Given the description of an element on the screen output the (x, y) to click on. 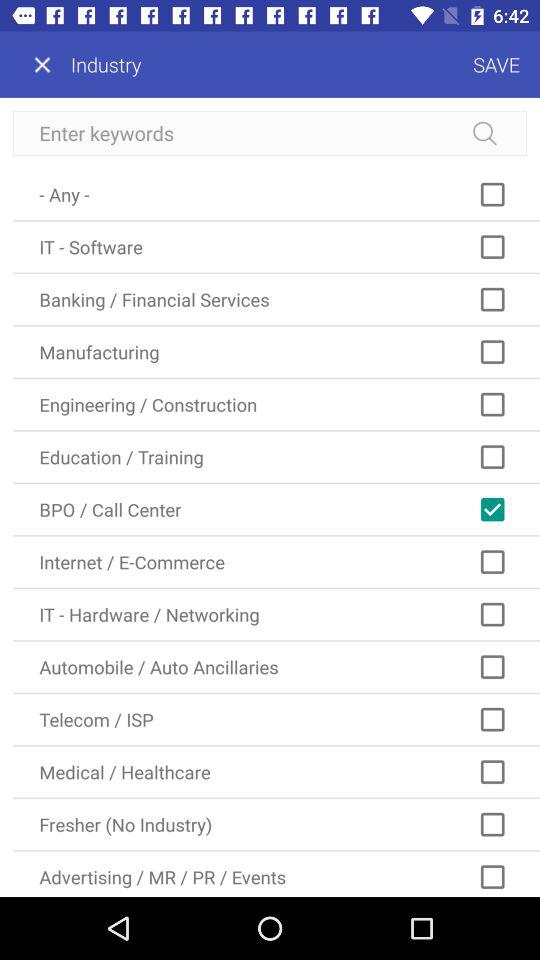
tap the item below the telecom / isp item (276, 771)
